Given the description of an element on the screen output the (x, y) to click on. 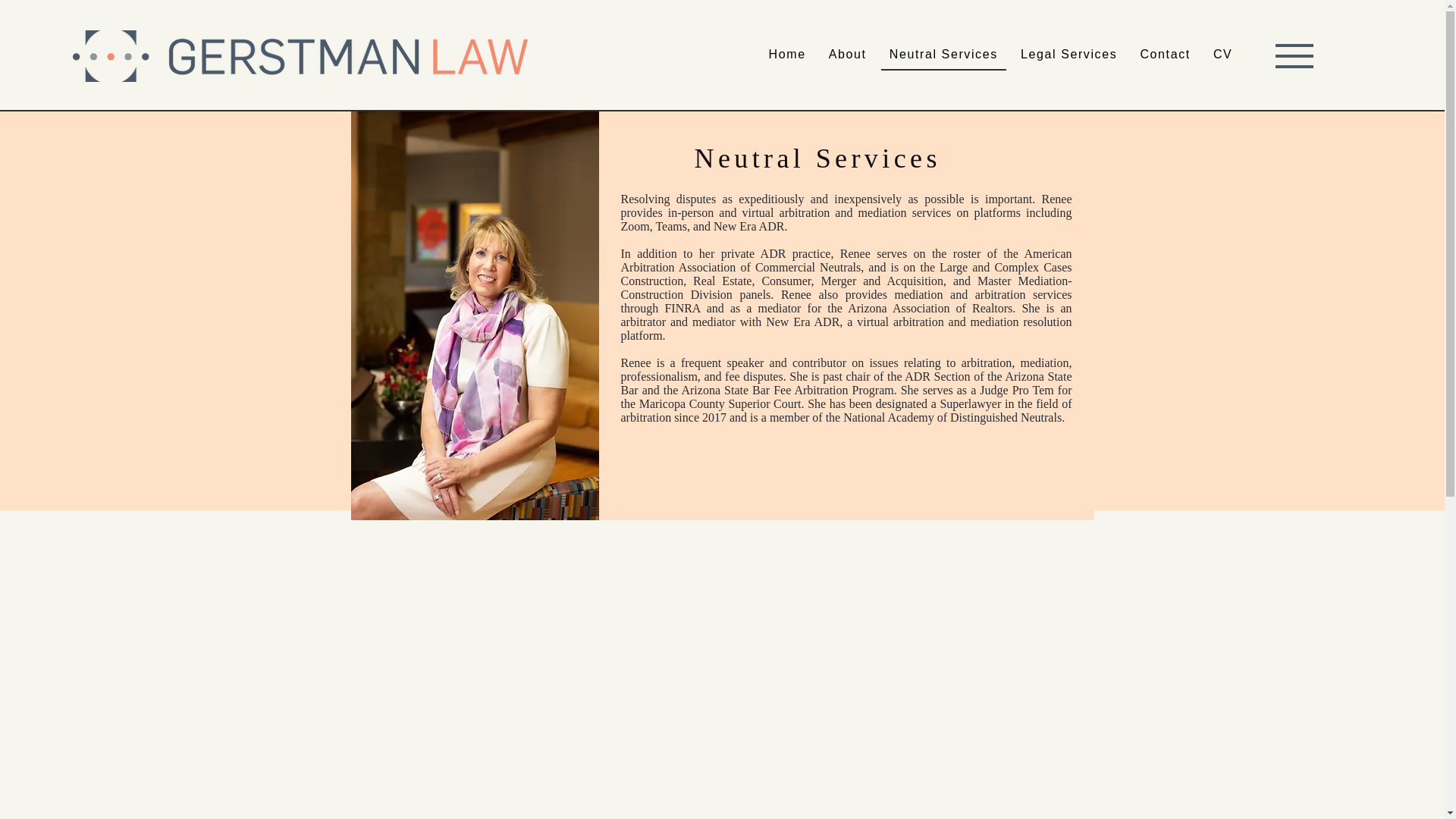
CV (1223, 55)
Neutral Services (943, 55)
Legal Services (1068, 55)
Home (786, 55)
Contact (1164, 55)
About (848, 55)
